Given the description of an element on the screen output the (x, y) to click on. 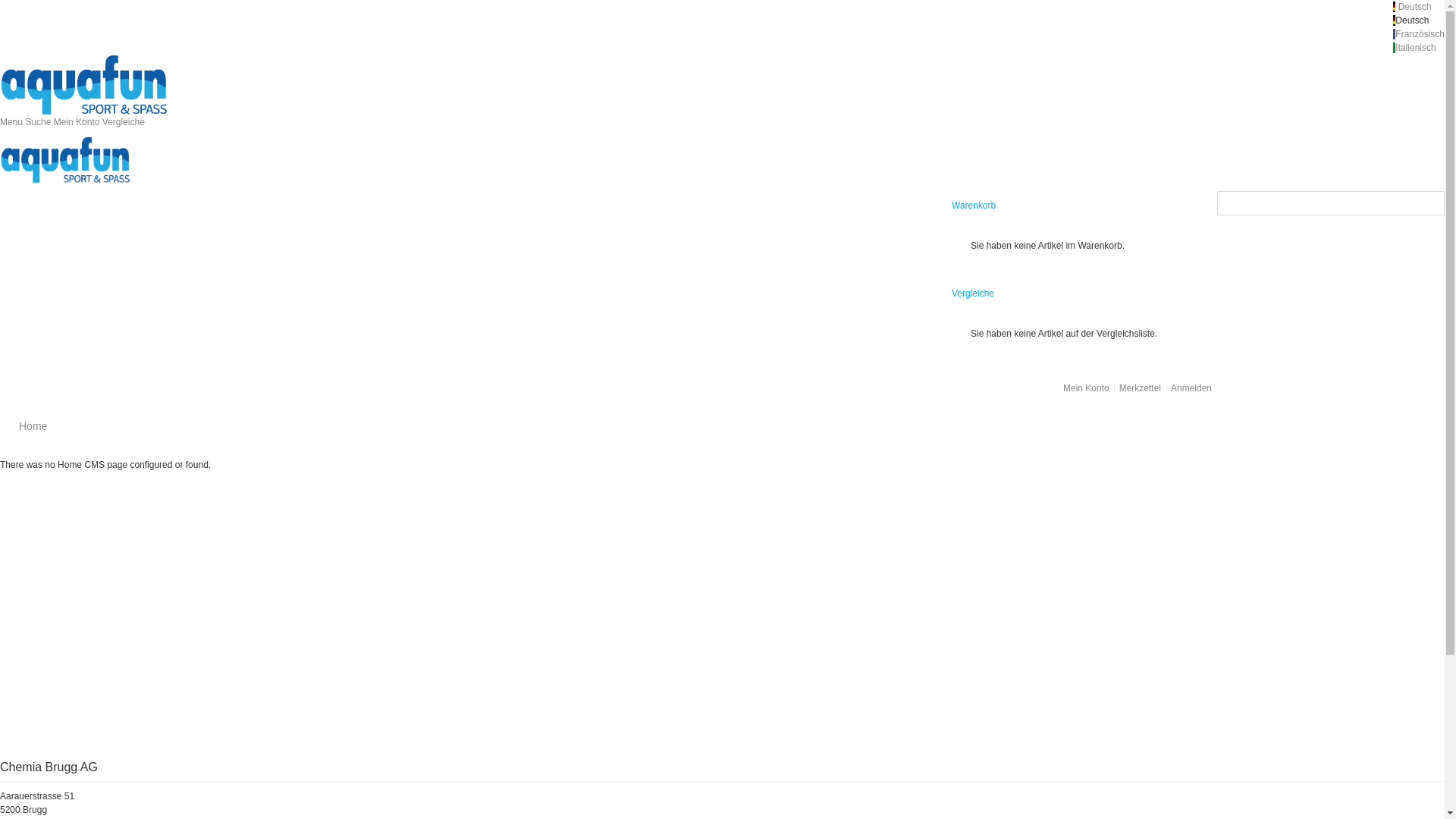
Mein Konto Element type: text (1085, 387)
Vergleiche Element type: text (123, 121)
Menu Element type: text (12, 121)
 Italienisch Element type: text (1414, 47)
Anmelden Element type: text (1191, 387)
Mein Konto Element type: text (77, 121)
Suche Element type: hover (1430, 204)
Magento Commerce Element type: hover (83, 159)
Warenkorb   Element type: text (976, 205)
  Deutsch   Element type: text (1414, 6)
Home Element type: text (32, 425)
Magento Commerce Element type: hover (107, 61)
Suche Element type: text (39, 121)
Merkzettel Element type: text (1139, 387)
